Given the description of an element on the screen output the (x, y) to click on. 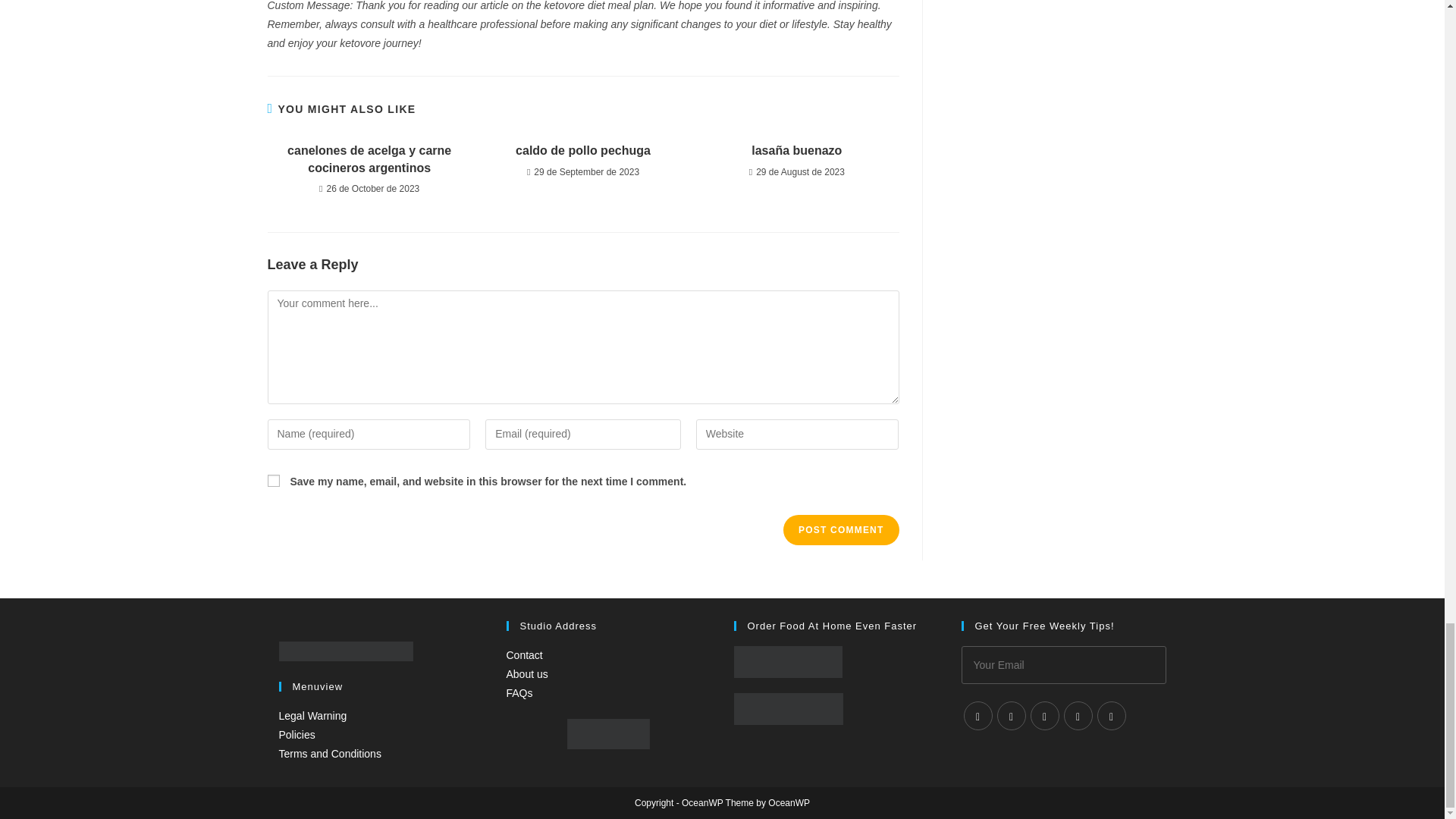
Post Comment (840, 530)
canelones de acelga y carne cocineros argentinos (368, 159)
yes (272, 480)
Post Comment (840, 530)
caldo de pollo pechuga (582, 150)
